Given the description of an element on the screen output the (x, y) to click on. 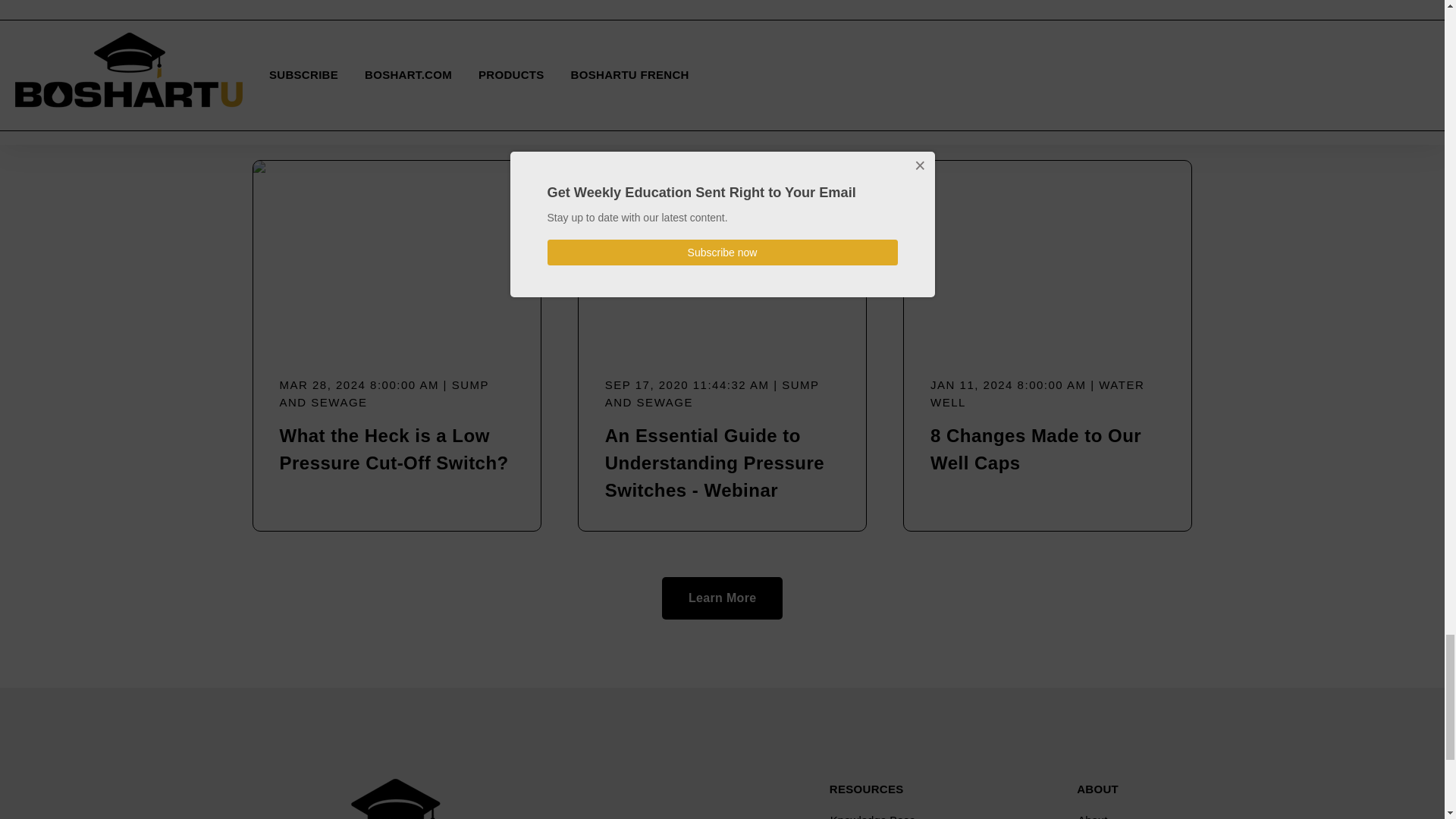
ABOUT (1097, 789)
RESOURCES (866, 789)
Knowledge Base (927, 813)
About (1133, 813)
Learn More (722, 598)
